Given the description of an element on the screen output the (x, y) to click on. 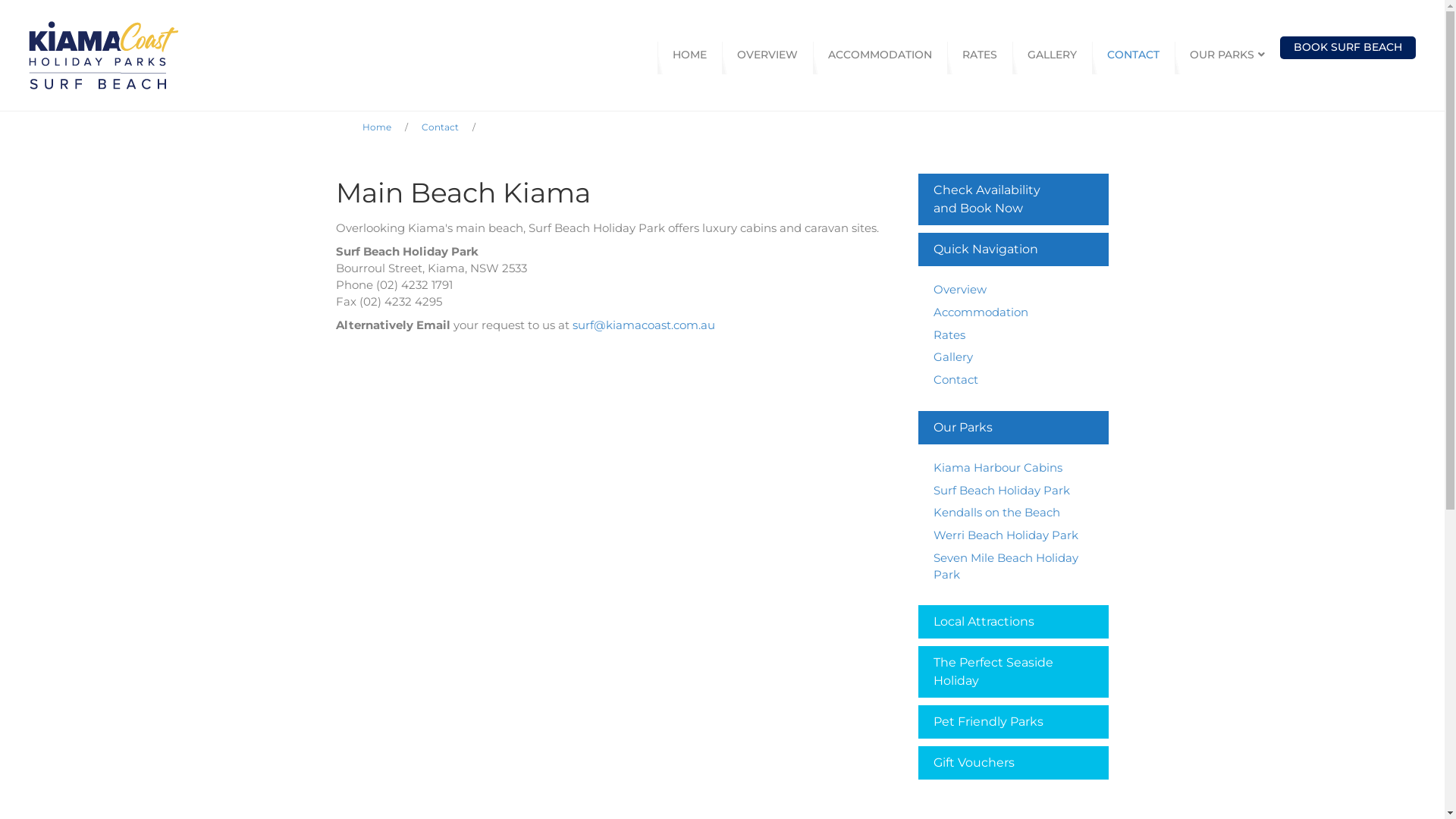
HOME Element type: text (689, 55)
Surf Beach Holiday Park Element type: text (1001, 490)
Overview Element type: text (959, 289)
Pet Friendly Parks Element type: text (1013, 721)
OUR PARKS Element type: text (1227, 55)
GALLERY Element type: text (1052, 55)
RATES Element type: text (979, 55)
Contact Element type: text (440, 127)
OVERVIEW Element type: text (766, 55)
Home Element type: text (376, 127)
Accommodation Element type: text (980, 311)
Check Availability
and Book Now Element type: text (1013, 199)
Kiama Harbour Cabins Element type: text (997, 467)
ACCOMMODATION Element type: text (879, 55)
Gift Vouchers Element type: text (1013, 762)
Seven Mile Beach Holiday Park Element type: text (1005, 565)
surf@kiamacoast.com.au Element type: text (642, 324)
Contact Element type: text (955, 379)
Werri Beach Holiday Park Element type: text (1005, 534)
Gallery Element type: text (952, 356)
Local Attractions Element type: text (1013, 621)
Kendalls on the Beach Element type: text (996, 512)
BOOK SURF BEACH Element type: text (1347, 47)
CONTACT Element type: text (1133, 55)
Rates Element type: text (949, 334)
The Perfect Seaside Holiday Element type: text (1013, 671)
